Given the description of an element on the screen output the (x, y) to click on. 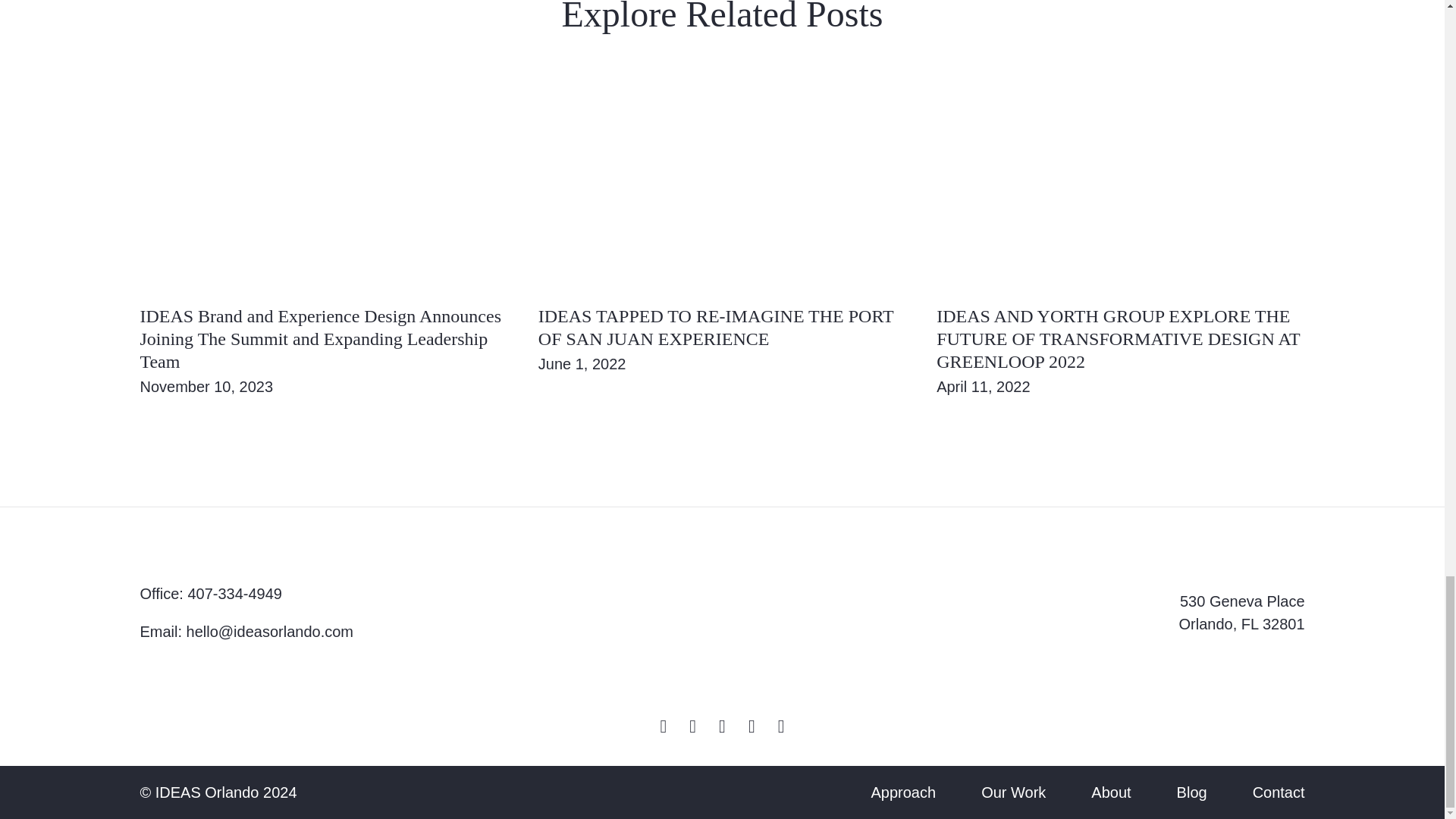
IDEAS-Brand-Experience-Logo (721, 611)
IDEAS TAPPED TO RE-IMAGINE THE PORT OF SAN JUAN EXPERIENCE (715, 327)
